Given the description of an element on the screen output the (x, y) to click on. 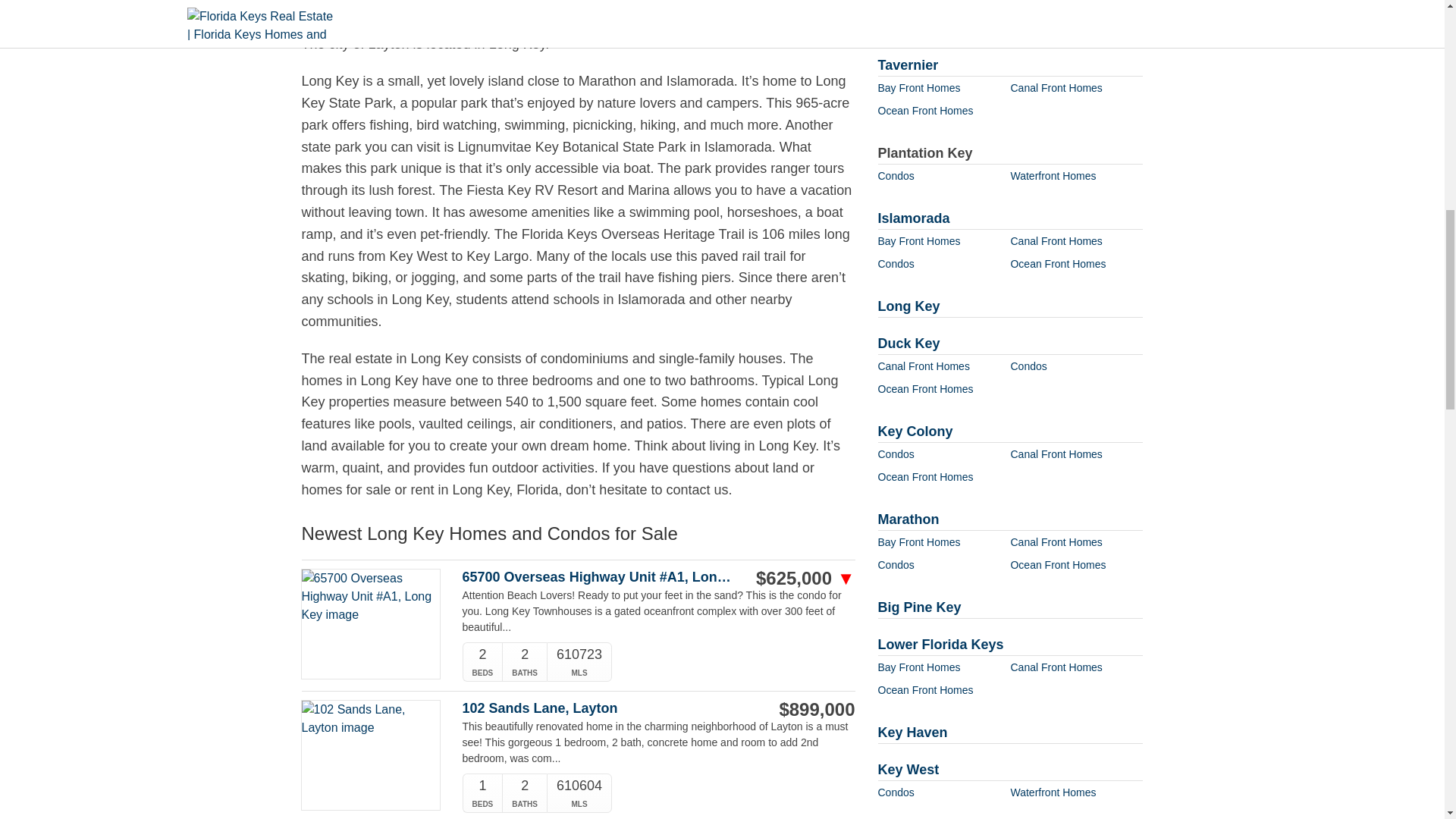
102 Sands Lane, Layton (600, 708)
